Given the description of an element on the screen output the (x, y) to click on. 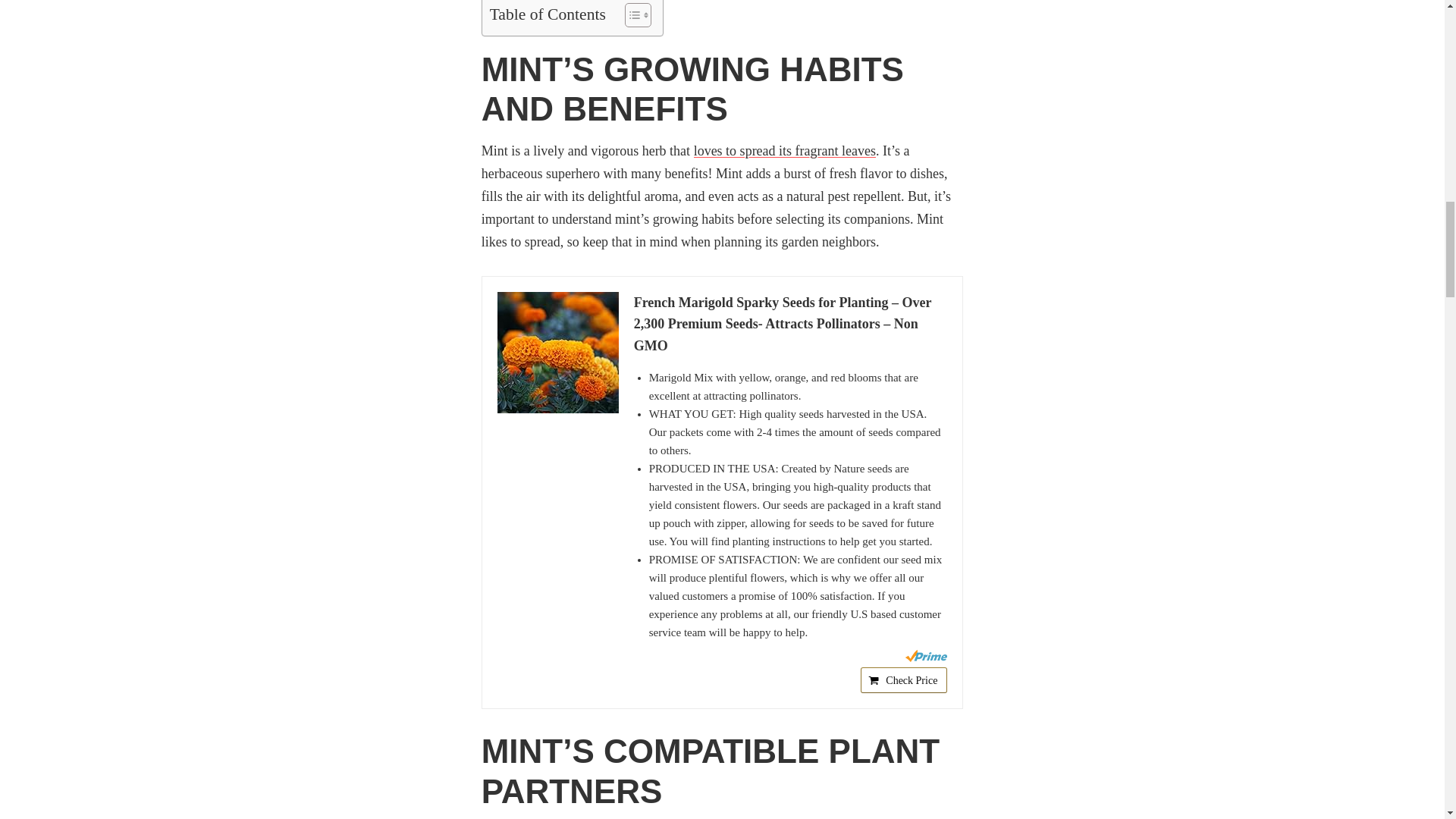
loves to spread its fragrant leaves (785, 150)
